Given the description of an element on the screen output the (x, y) to click on. 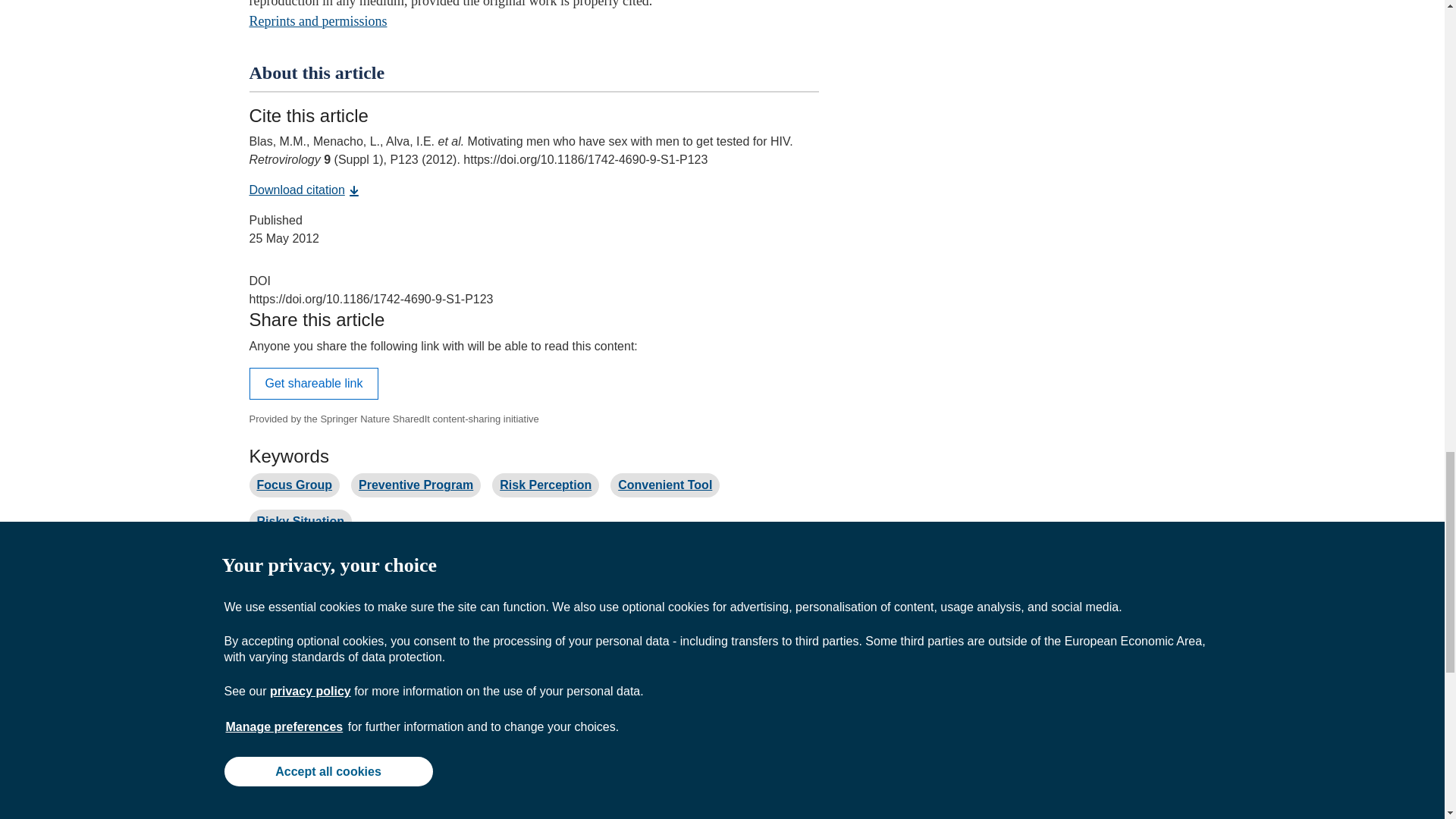
Digital Object Identifier (258, 280)
